Given the description of an element on the screen output the (x, y) to click on. 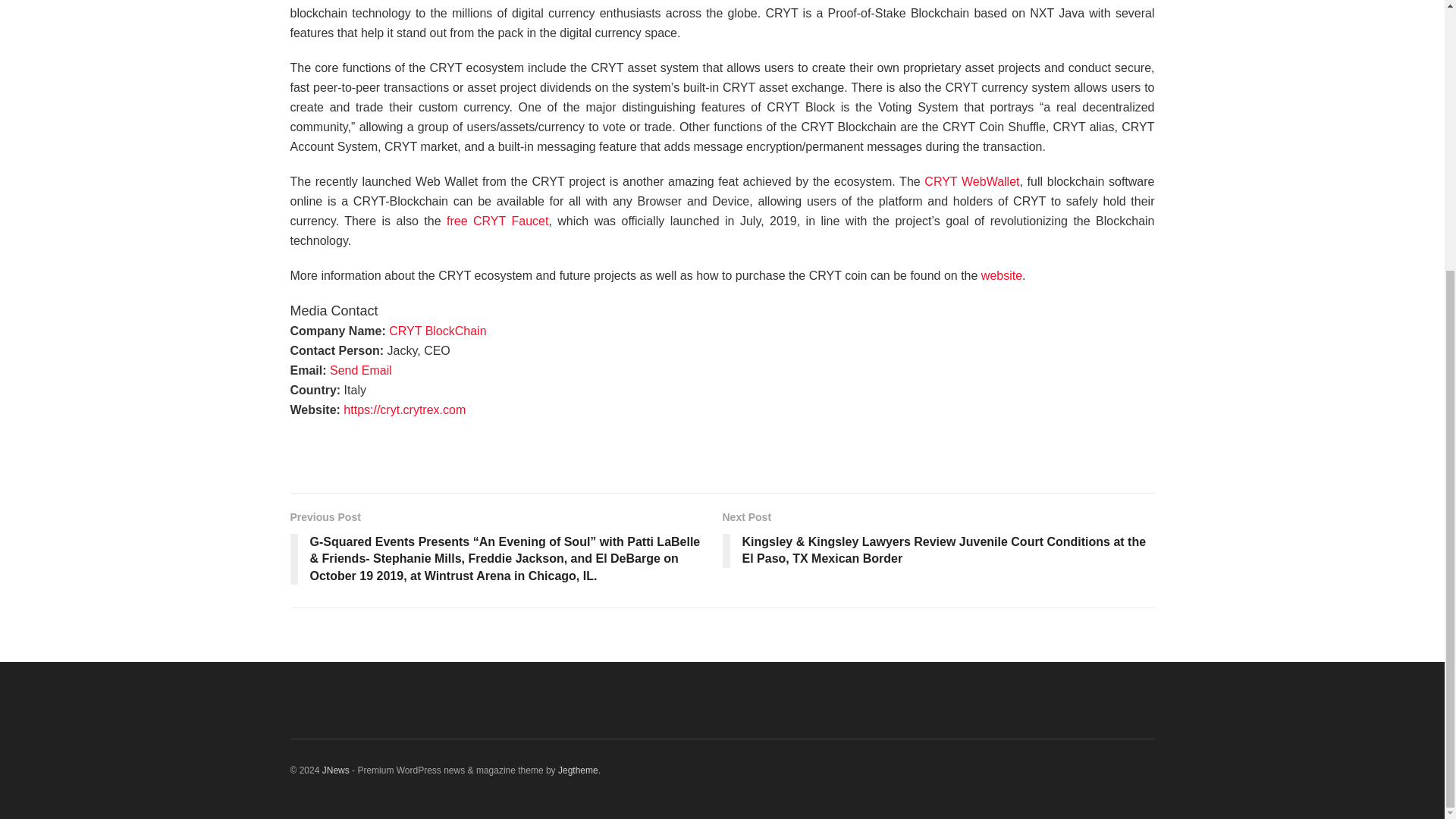
Send Email (360, 369)
website (1001, 275)
CRYT WebWallet (971, 181)
free CRYT Faucet (497, 220)
Jegtheme (577, 769)
JNews (335, 769)
Jegtheme (577, 769)
CRYT BlockChain (437, 330)
